Given the description of an element on the screen output the (x, y) to click on. 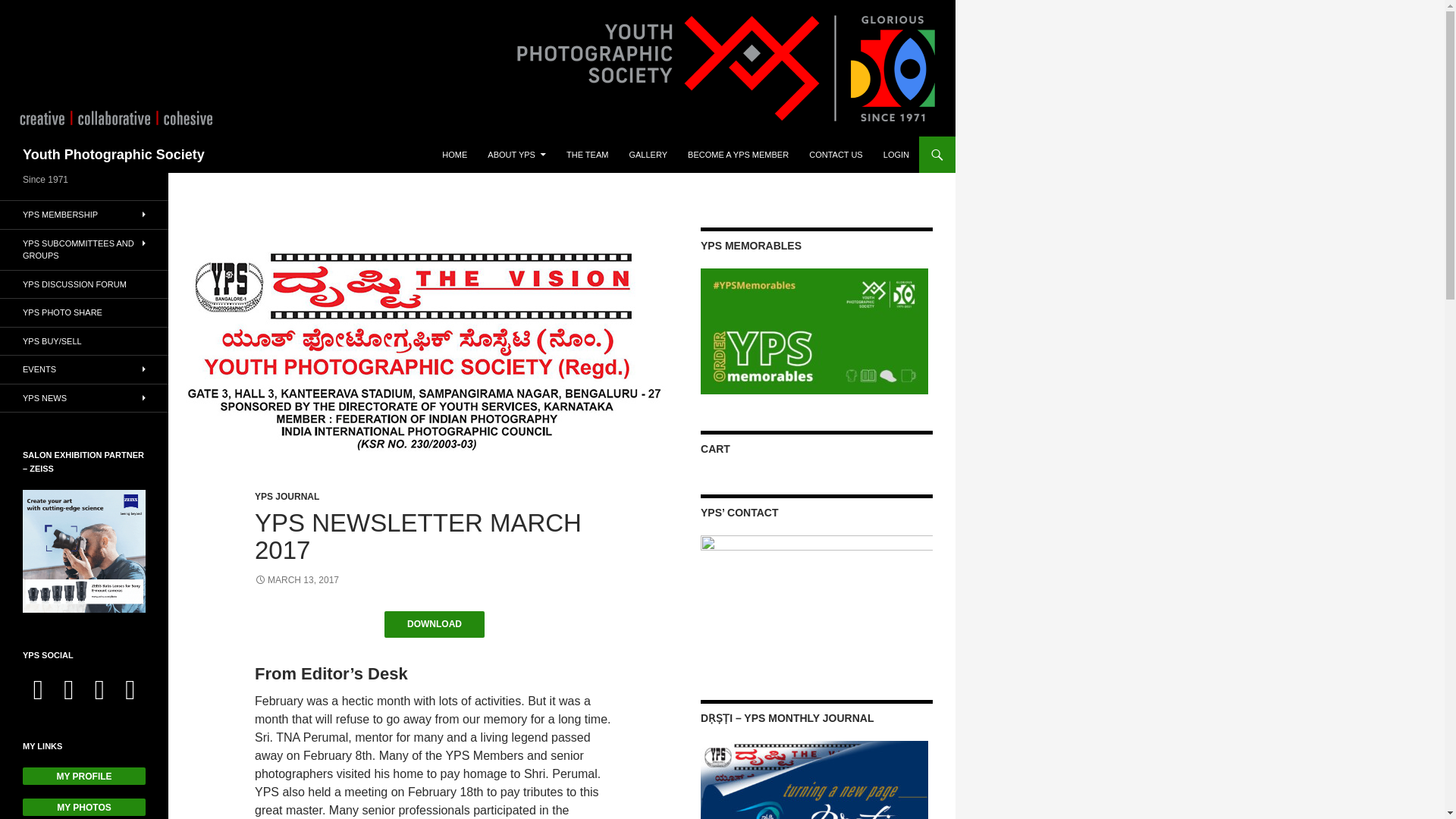
Youth Photographic Society (114, 154)
DOWNLOAD (434, 624)
DOWNLOAD (434, 627)
CONTACT US (835, 154)
BECOME A YPS MEMBER (737, 154)
THE TEAM (587, 154)
ABOUT YPS (516, 154)
YPS JOURNAL (286, 496)
GALLERY (648, 154)
HOME (454, 154)
LOGIN (896, 154)
MARCH 13, 2017 (296, 579)
